Given the description of an element on the screen output the (x, y) to click on. 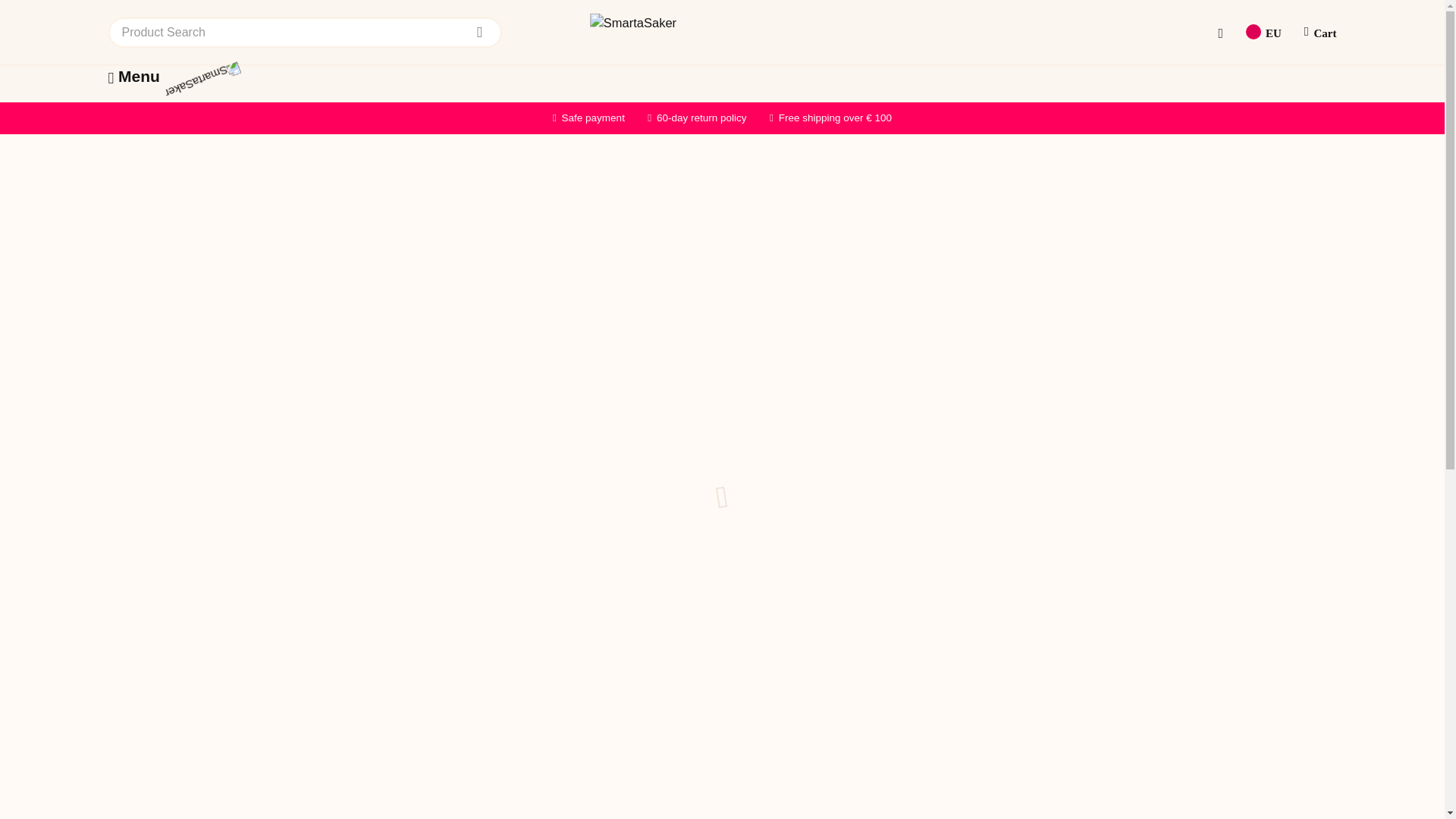
1 (764, 357)
New (298, 110)
Best-sellers (365, 110)
